Given the description of an element on the screen output the (x, y) to click on. 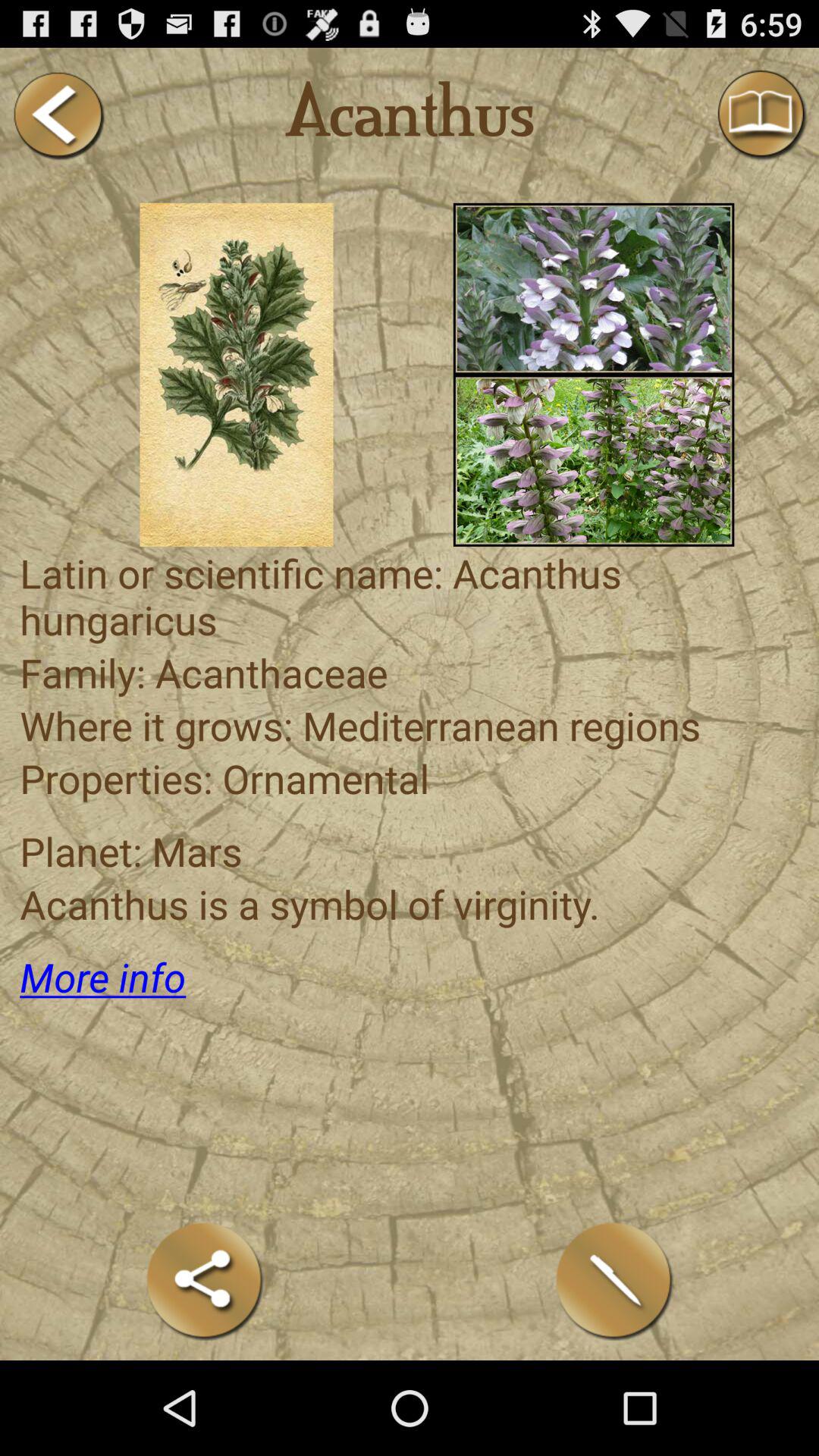
enter personal notes for this plant (614, 1280)
